Given the description of an element on the screen output the (x, y) to click on. 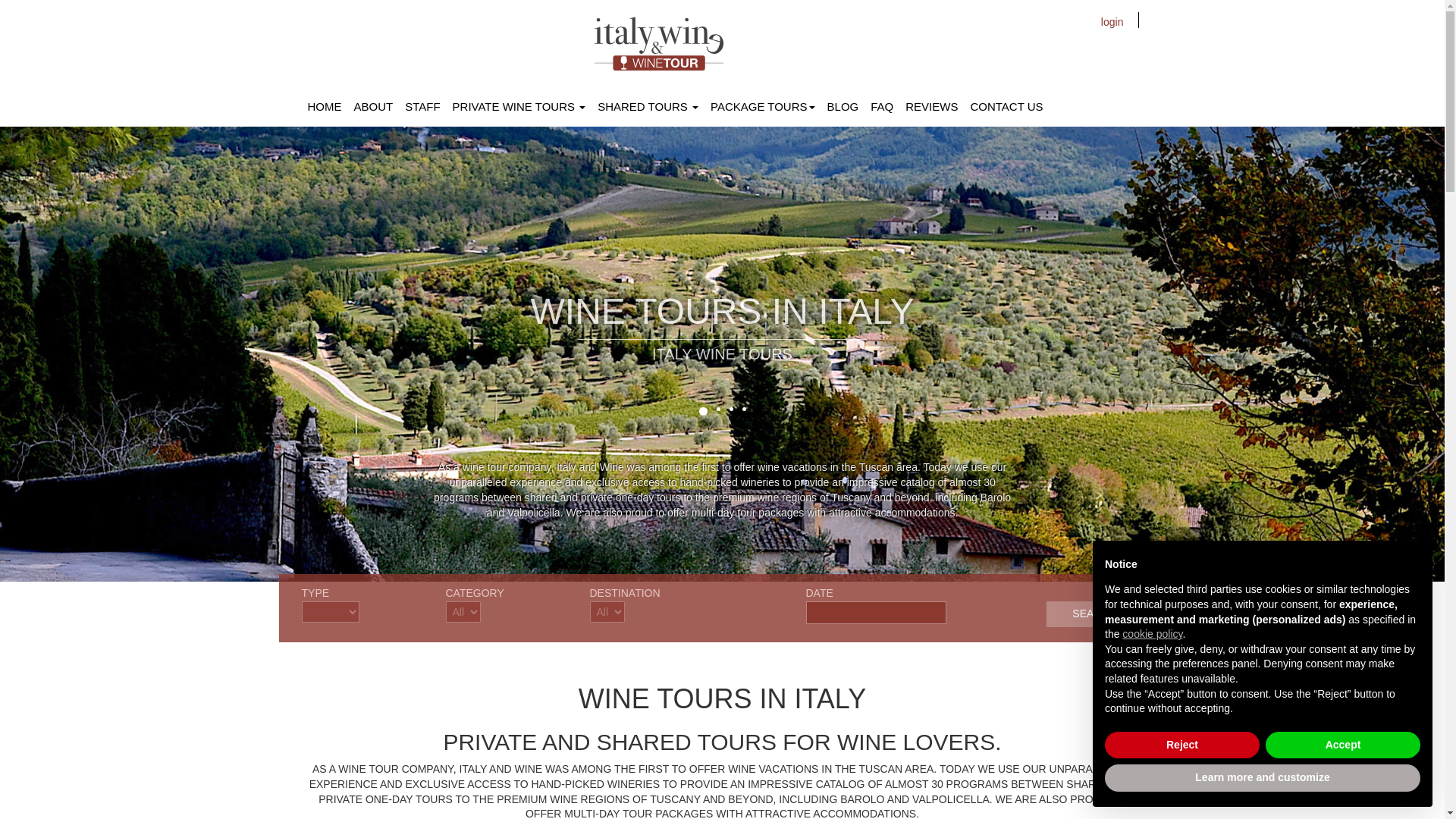
CONTACT US (1005, 106)
PRIVATE WINE TOURS (519, 106)
PACKAGE TOURS (762, 106)
1 (702, 411)
SEARCH (1094, 614)
Reject (1182, 745)
Accept (1343, 745)
WINE TOURS IN ITALY (722, 308)
login (1119, 21)
SHARED TOURS (647, 106)
